Given the description of an element on the screen output the (x, y) to click on. 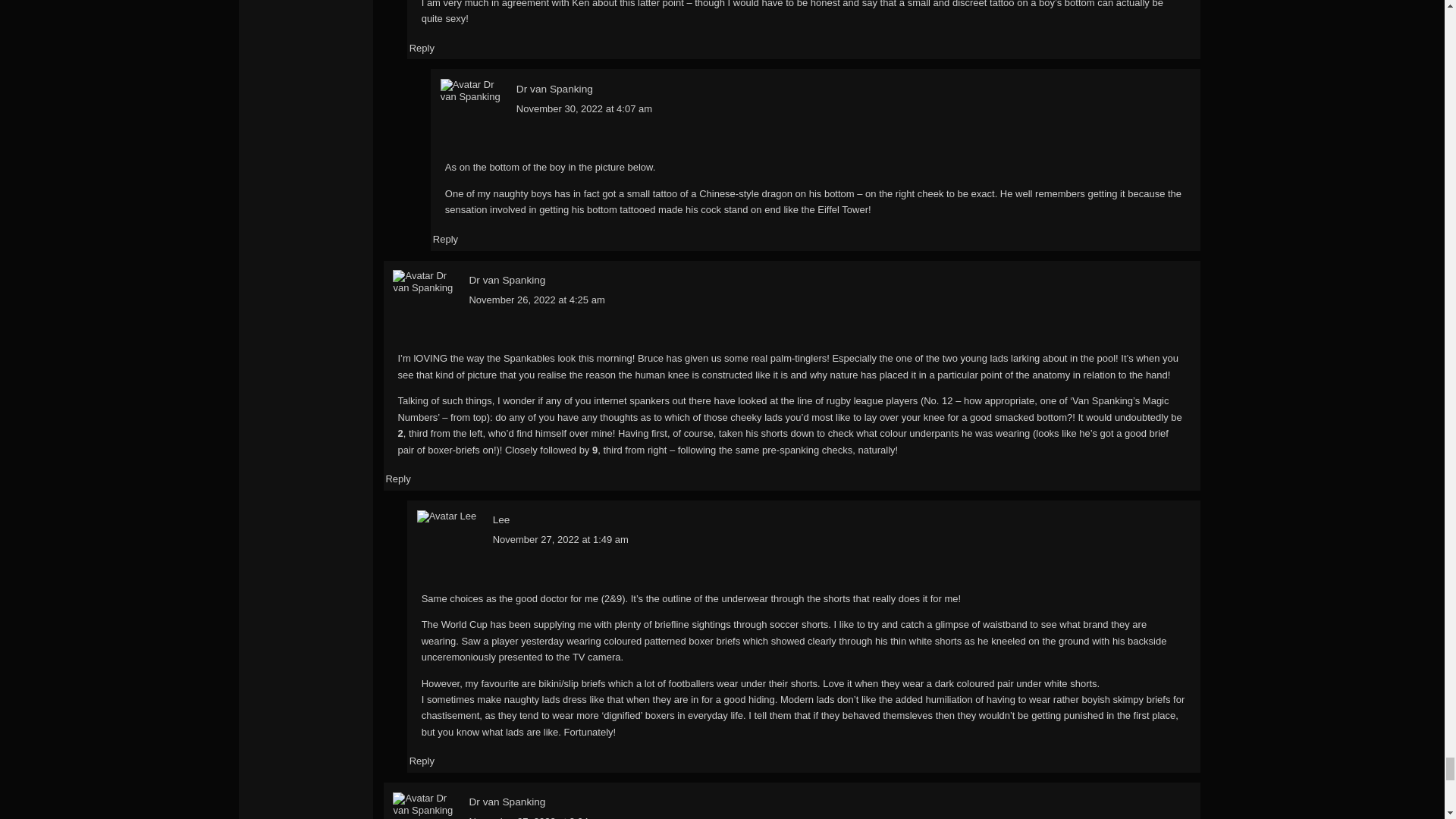
Dr van Spanking (554, 89)
Reply (421, 760)
Reply (445, 238)
November 26, 2022 at 4:25 am (536, 299)
Dr van Spanking (506, 801)
November 27, 2022 at 1:49 am (560, 539)
Dr van Spanking (506, 279)
November 30, 2022 at 4:07 am (584, 108)
Reply (421, 48)
Reply (397, 478)
